Given the description of an element on the screen output the (x, y) to click on. 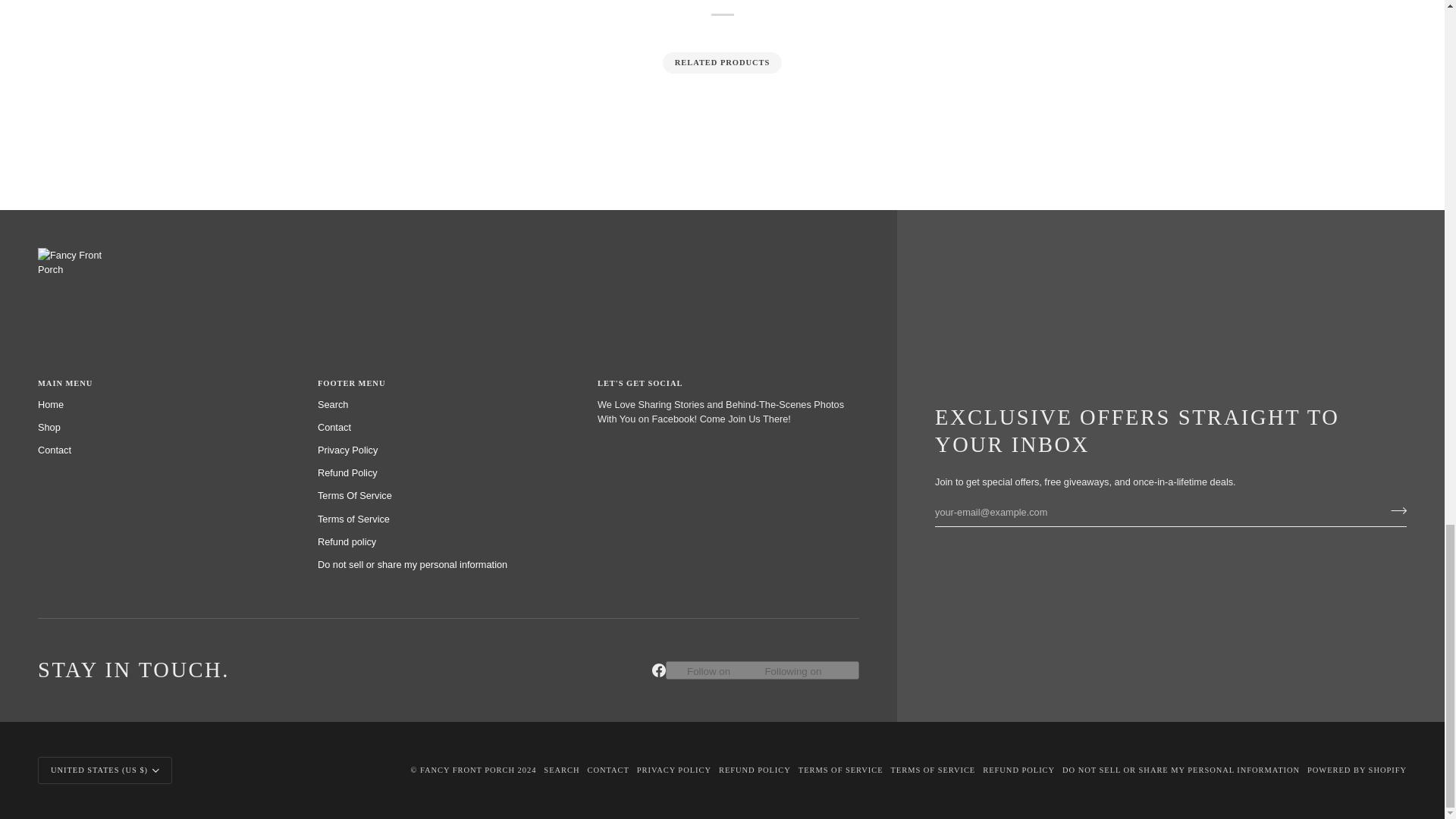
Facebook (658, 670)
RELATED PRODUCTS (722, 62)
